Given the description of an element on the screen output the (x, y) to click on. 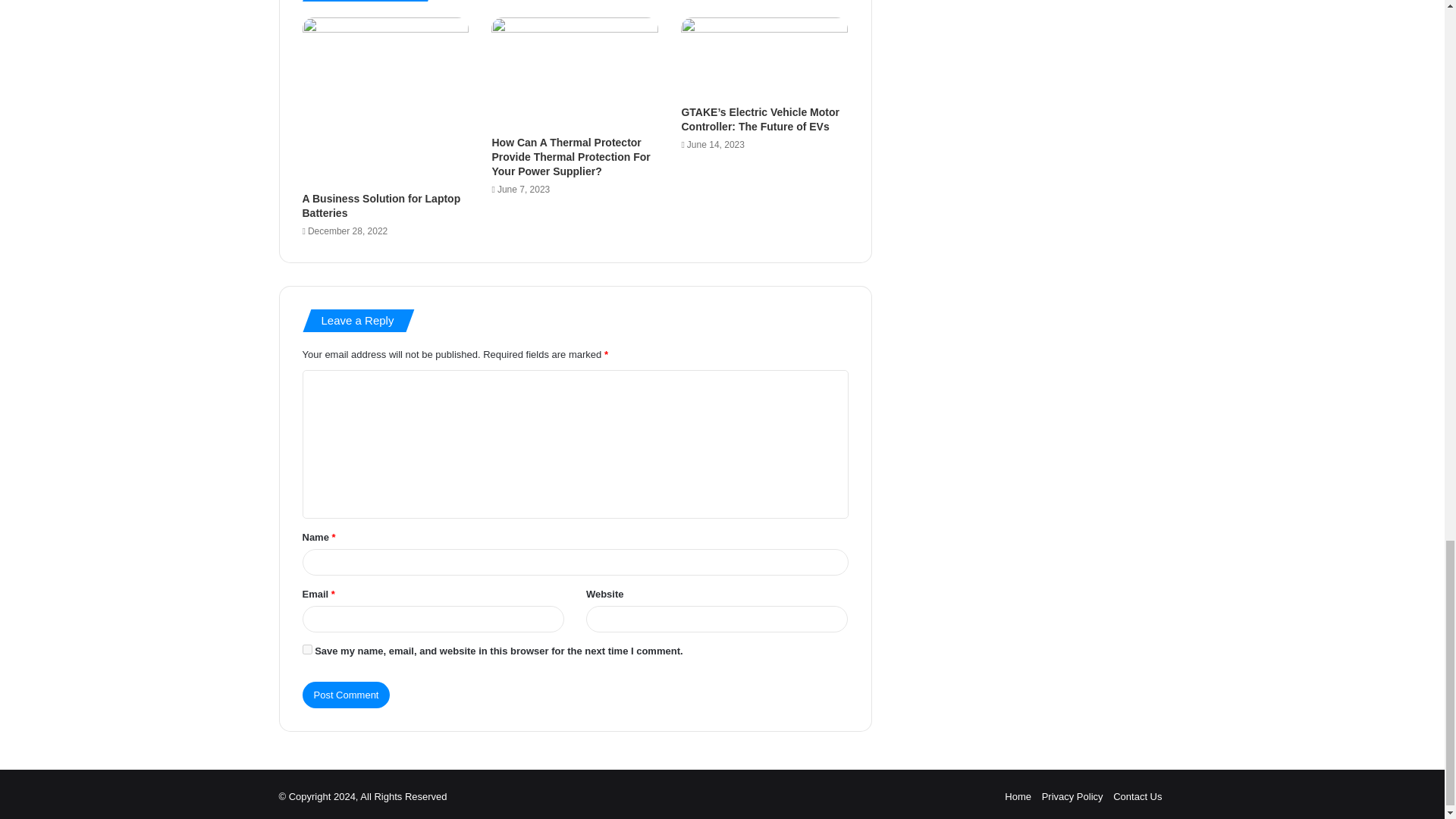
yes (306, 649)
Post Comment (345, 694)
A Business Solution for Laptop Batteries (380, 205)
